Given the description of an element on the screen output the (x, y) to click on. 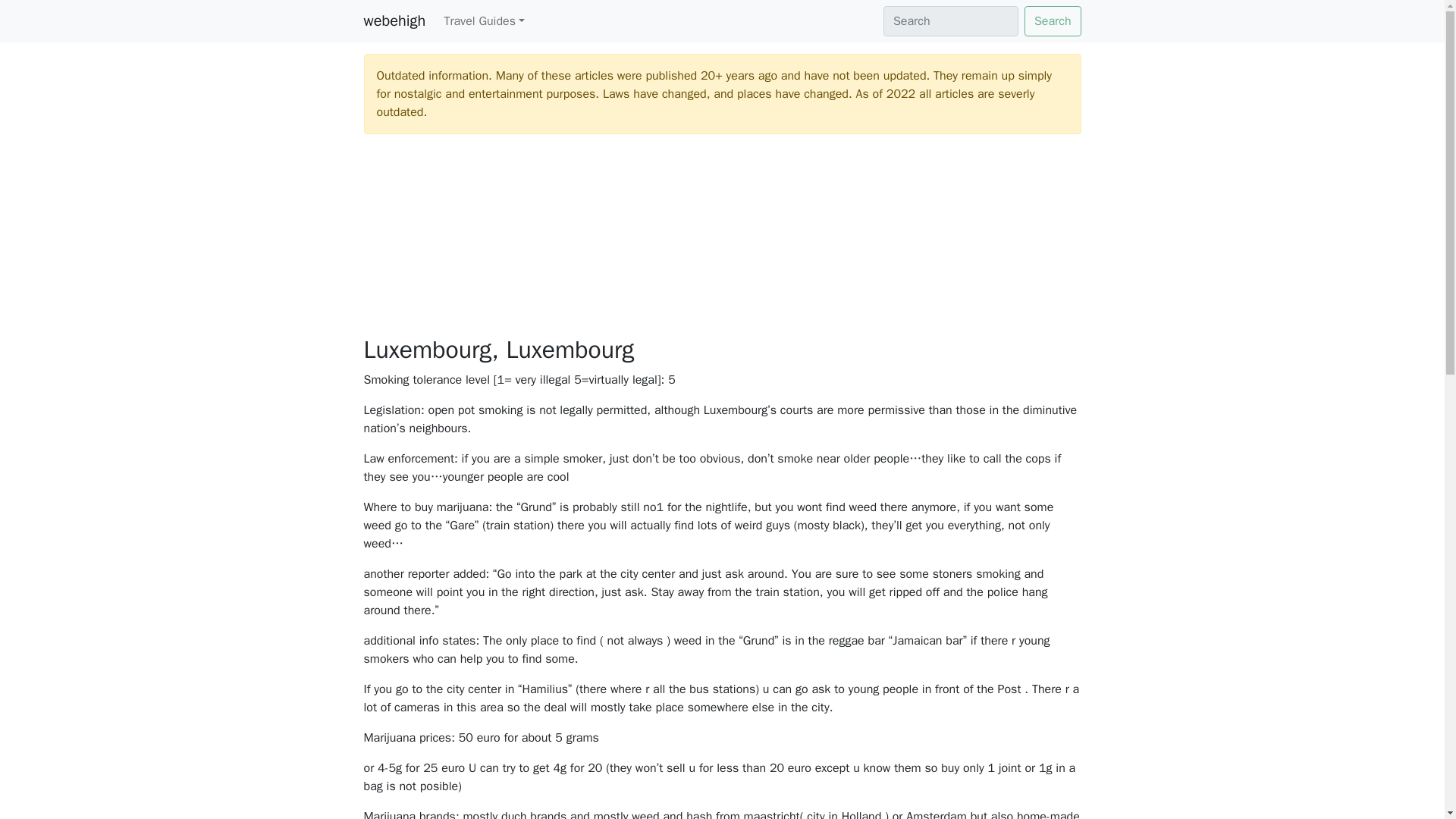
Search (1053, 20)
Travel Guides (484, 20)
webehigh (395, 20)
